Given the description of an element on the screen output the (x, y) to click on. 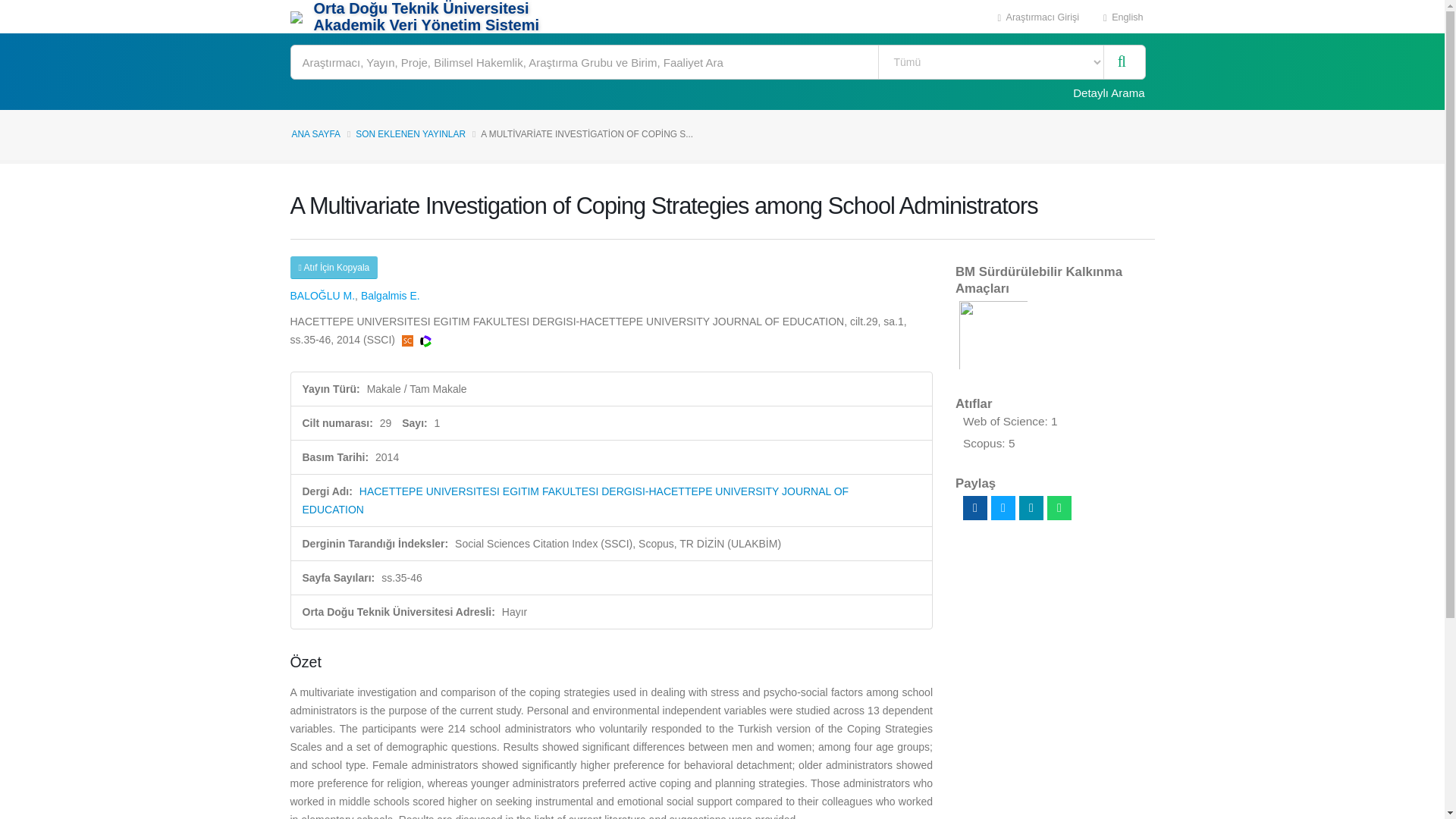
ANA SAYFA (315, 133)
Balgalmis E. (390, 295)
SON EKLENEN YAYINLAR (410, 133)
English (1123, 17)
